Given the description of an element on the screen output the (x, y) to click on. 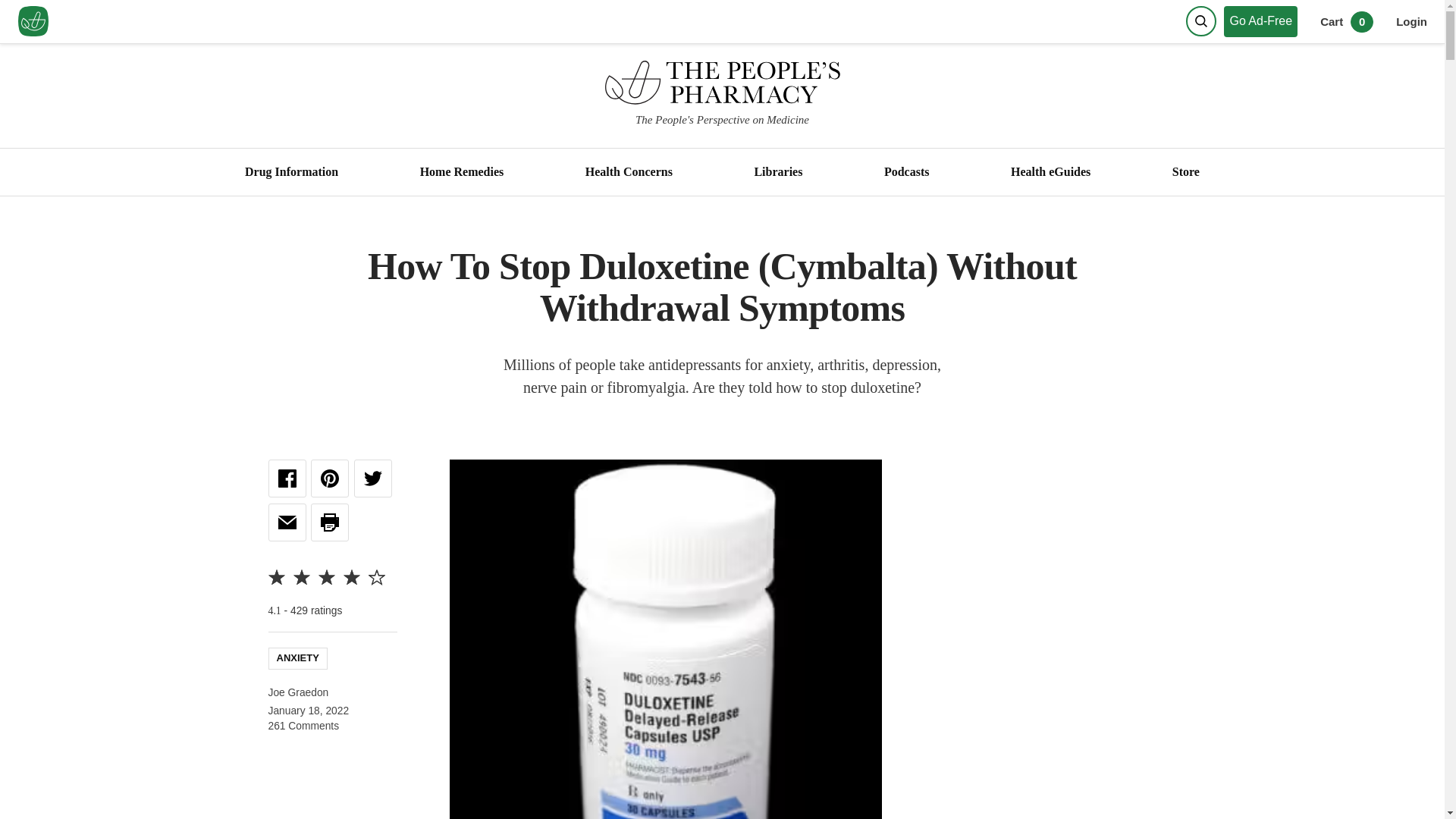
Drug Information (290, 172)
Go Ad-Free (1264, 20)
Store (1185, 172)
Health eGuides (1050, 172)
Cart0 (1346, 21)
star-fullstar-empty (376, 576)
Health Concerns (628, 172)
Home Remedies (461, 172)
Podcasts (906, 172)
ANXIETY (297, 657)
